Given the description of an element on the screen output the (x, y) to click on. 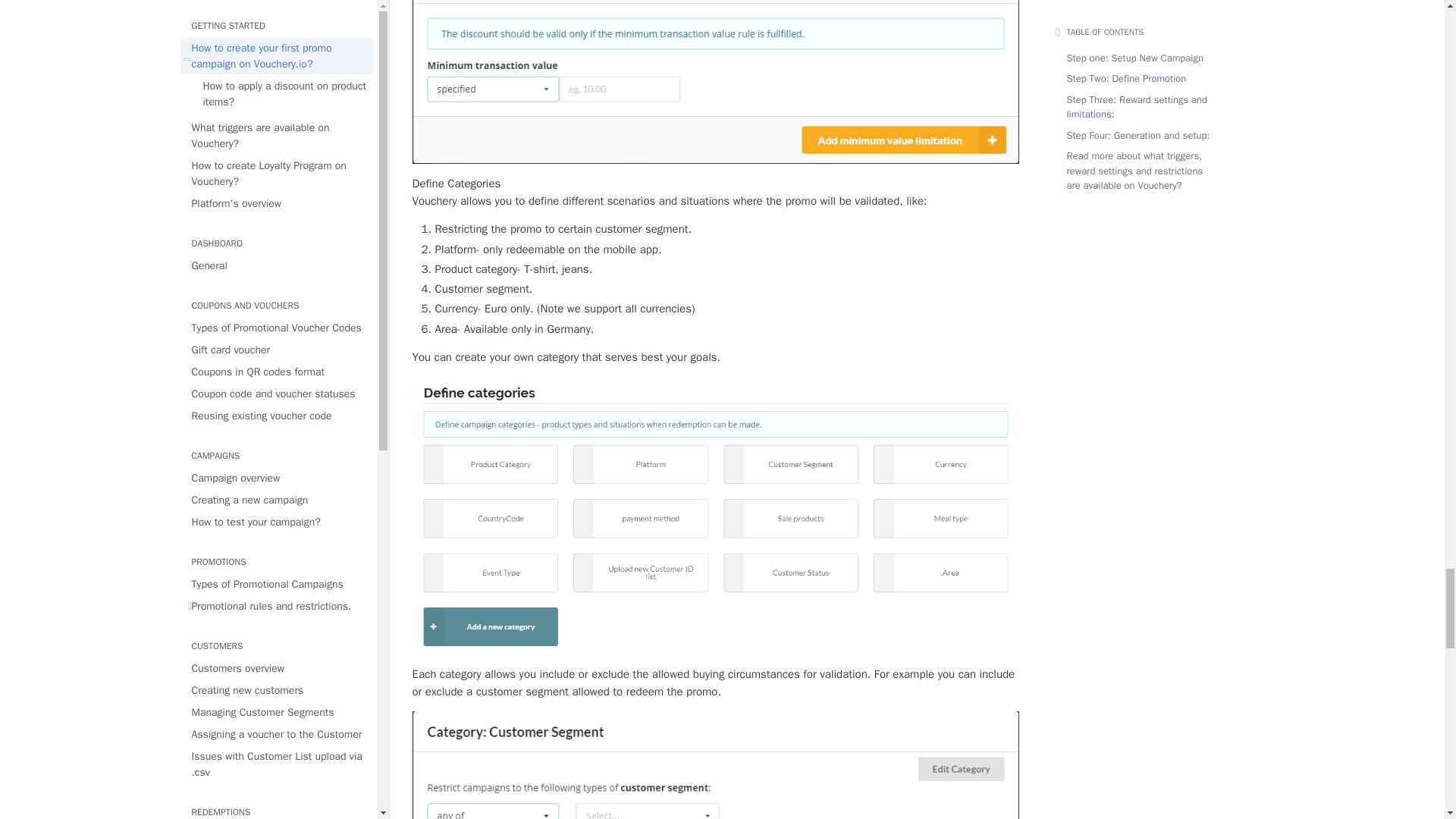
category- customer segment.png (715, 765)
minimum transaction value.png (715, 81)
